Given the description of an element on the screen output the (x, y) to click on. 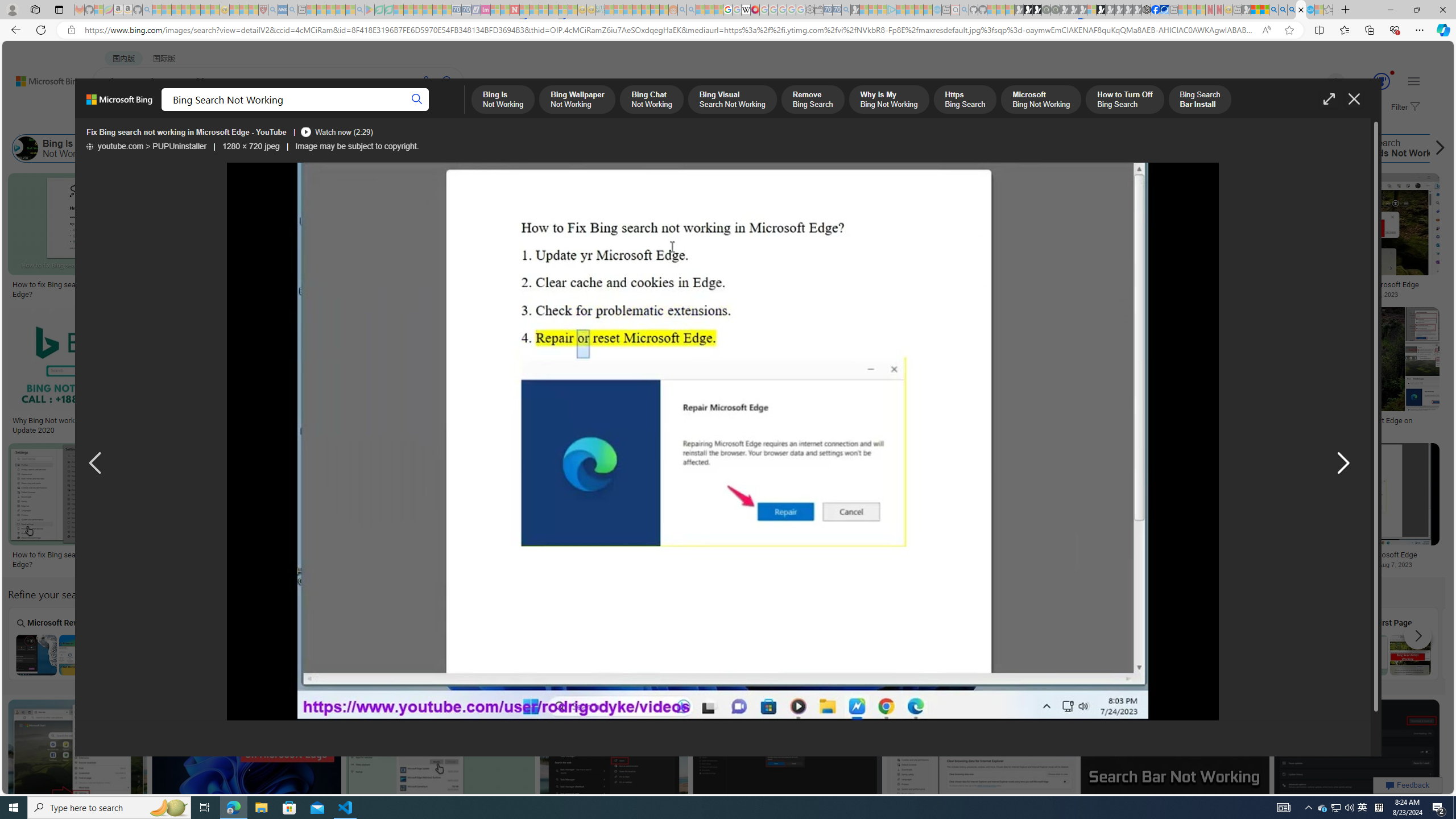
Eugene (1319, 81)
Why Bing Not working on windows 10? Update 2020 (77, 425)
Bing Search Not Working Properly Properly (569, 643)
Bing Visual Search Not Working (774, 655)
Search using voice (426, 80)
Bing searches not working? : r/bingSave (792, 372)
